Given the description of an element on the screen output the (x, y) to click on. 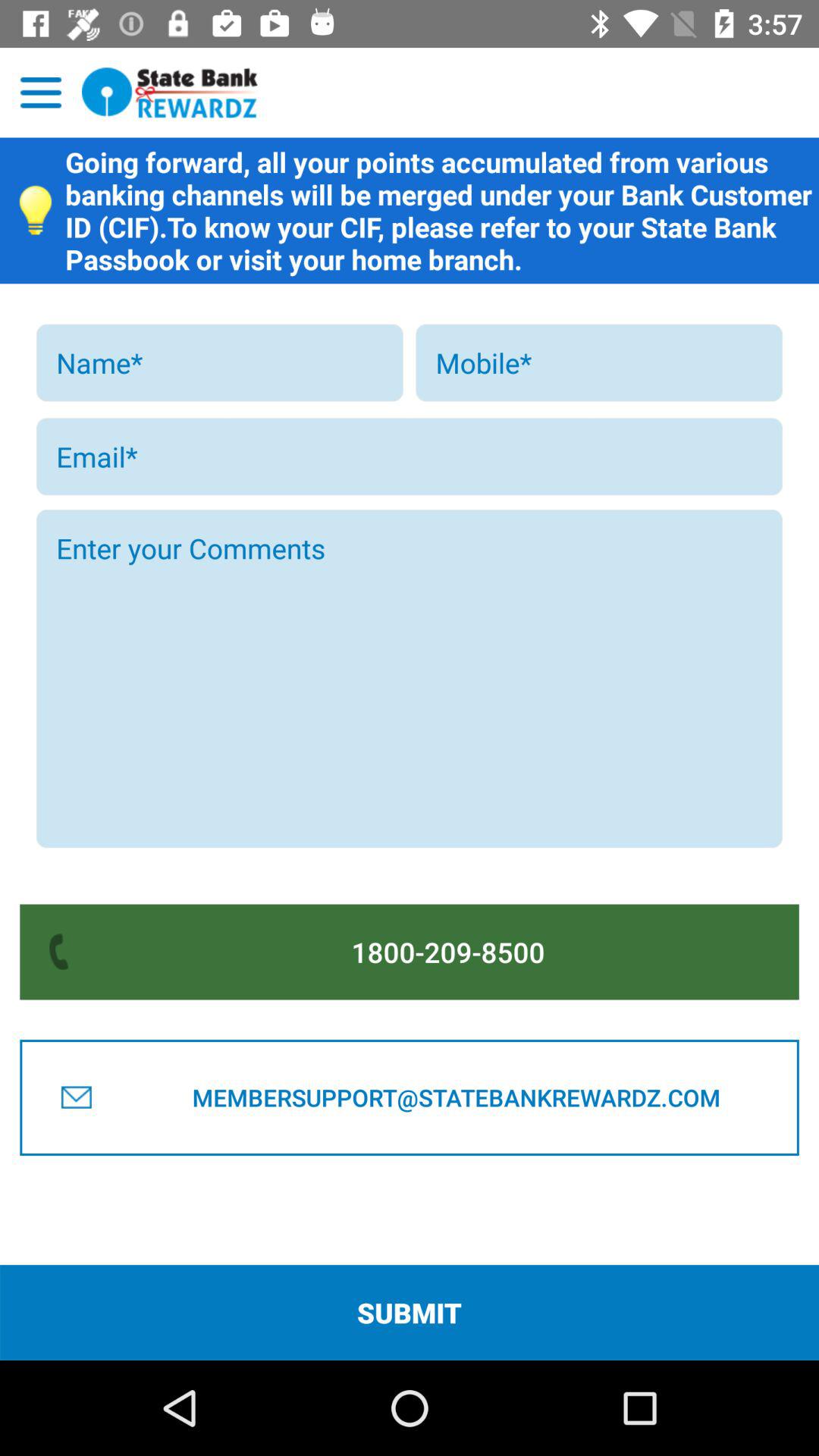
press icon above submit item (455, 1097)
